Given the description of an element on the screen output the (x, y) to click on. 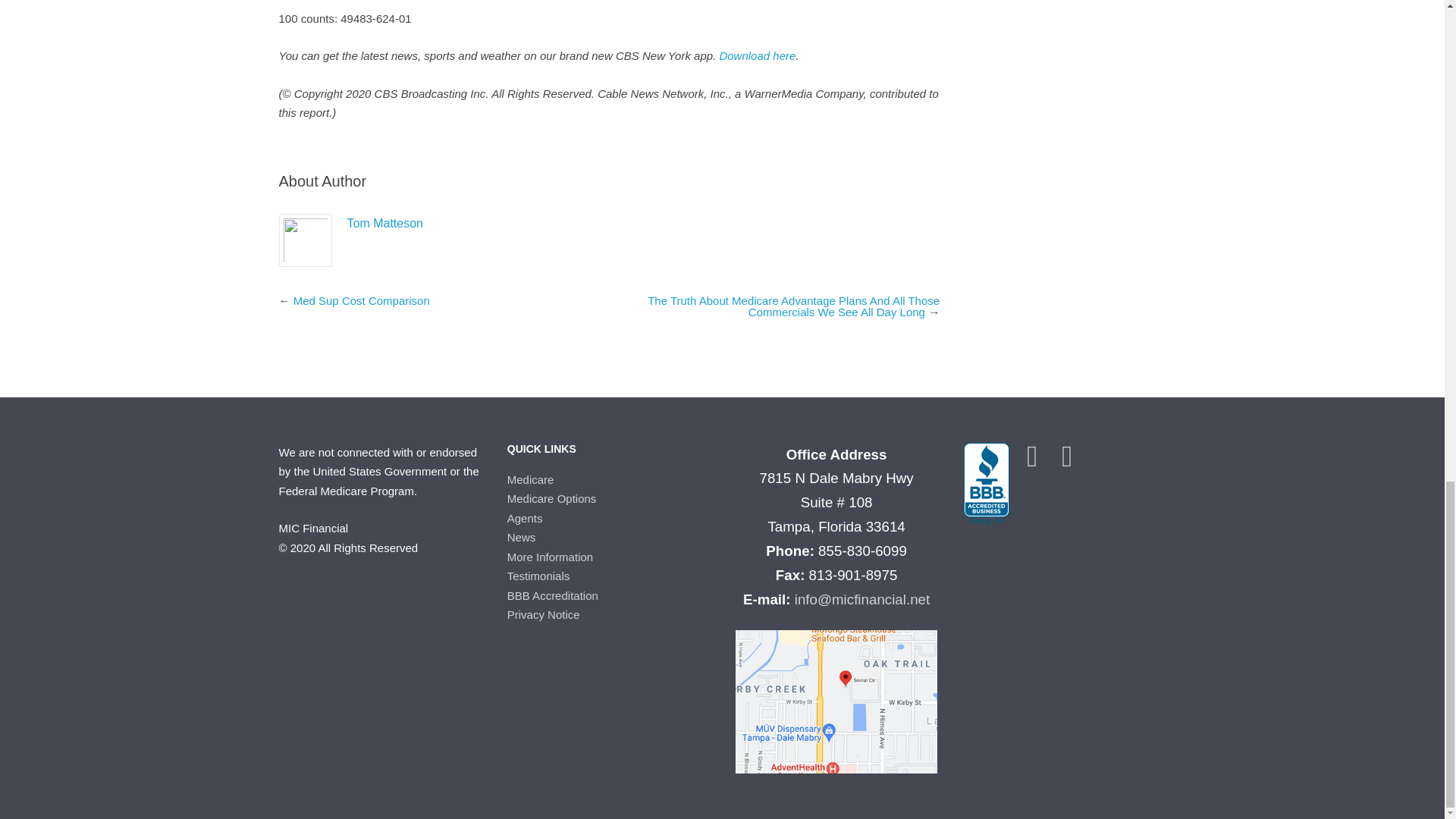
Tom Matteson (385, 222)
Download here (756, 55)
Med Sup Cost Comparison (361, 299)
Posts by Tom Matteson (385, 222)
